Given the description of an element on the screen output the (x, y) to click on. 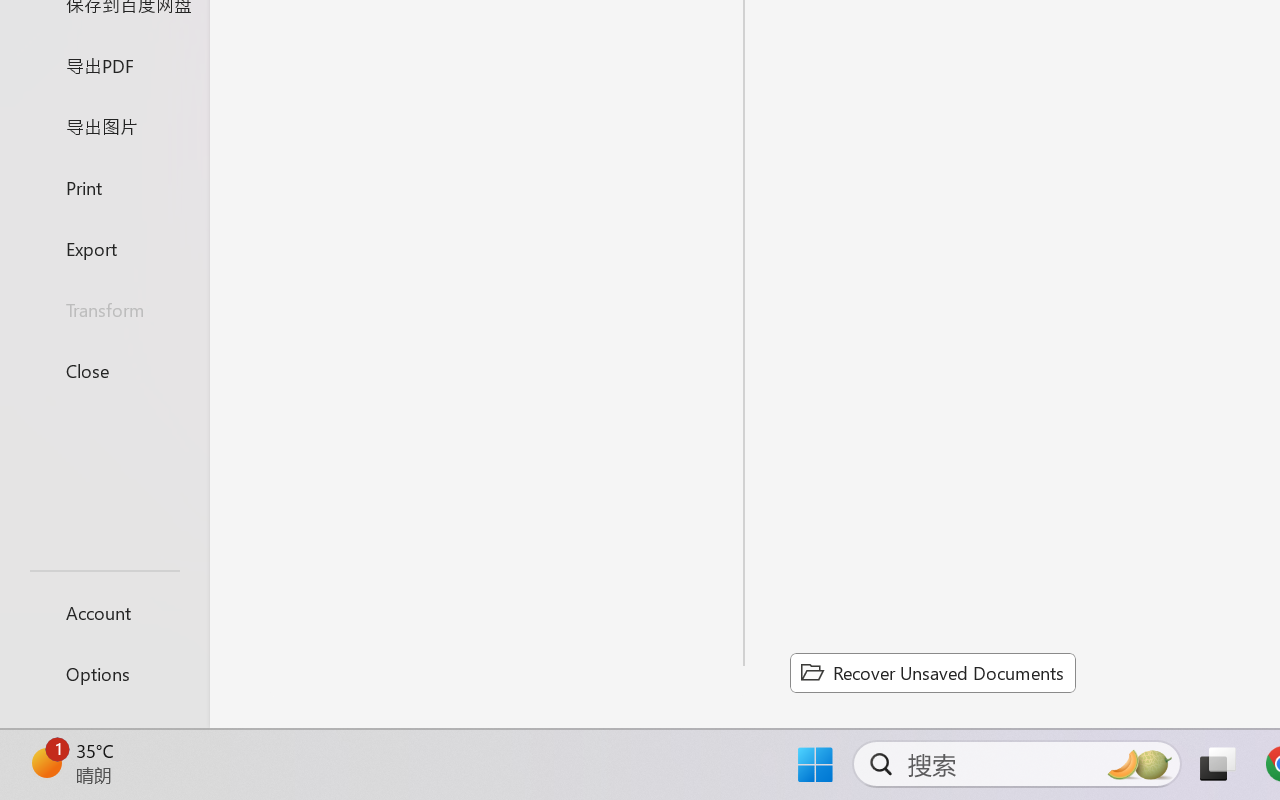
Print (104, 186)
Recover Unsaved Documents (932, 672)
Options (104, 673)
Transform (104, 309)
Account (104, 612)
Export (104, 248)
